Given the description of an element on the screen output the (x, y) to click on. 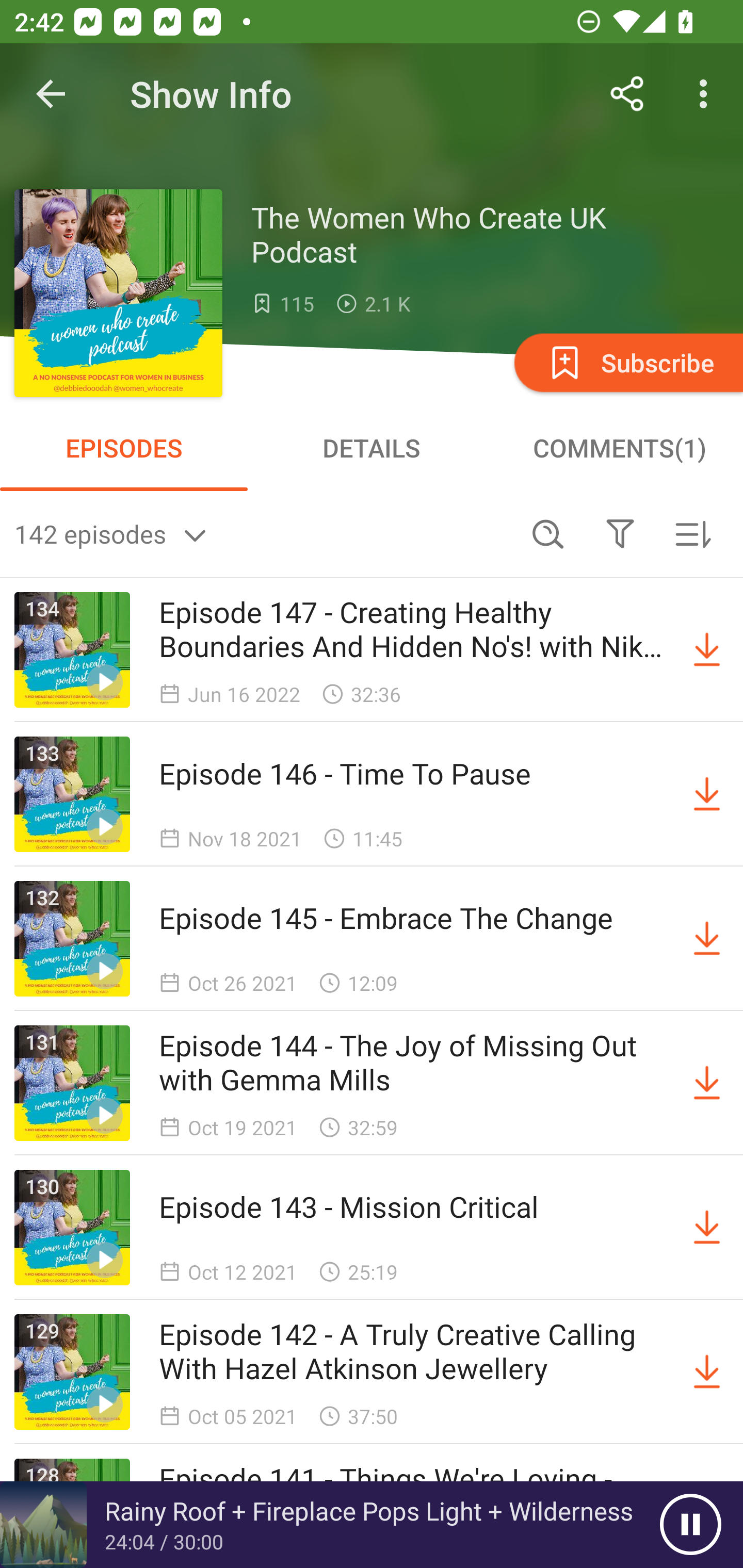
Navigate up (50, 93)
Share (626, 93)
More options (706, 93)
Subscribe (627, 361)
EPISODES (123, 447)
DETAILS (371, 447)
COMMENTS(1) (619, 447)
142 episodes  (262, 533)
 Search (547, 533)
 (619, 533)
 Sorted by newest first (692, 533)
Download (706, 649)
Download (706, 793)
Download (706, 939)
Download (706, 1083)
Download (706, 1227)
Download (706, 1371)
Pause (690, 1524)
